Given the description of an element on the screen output the (x, y) to click on. 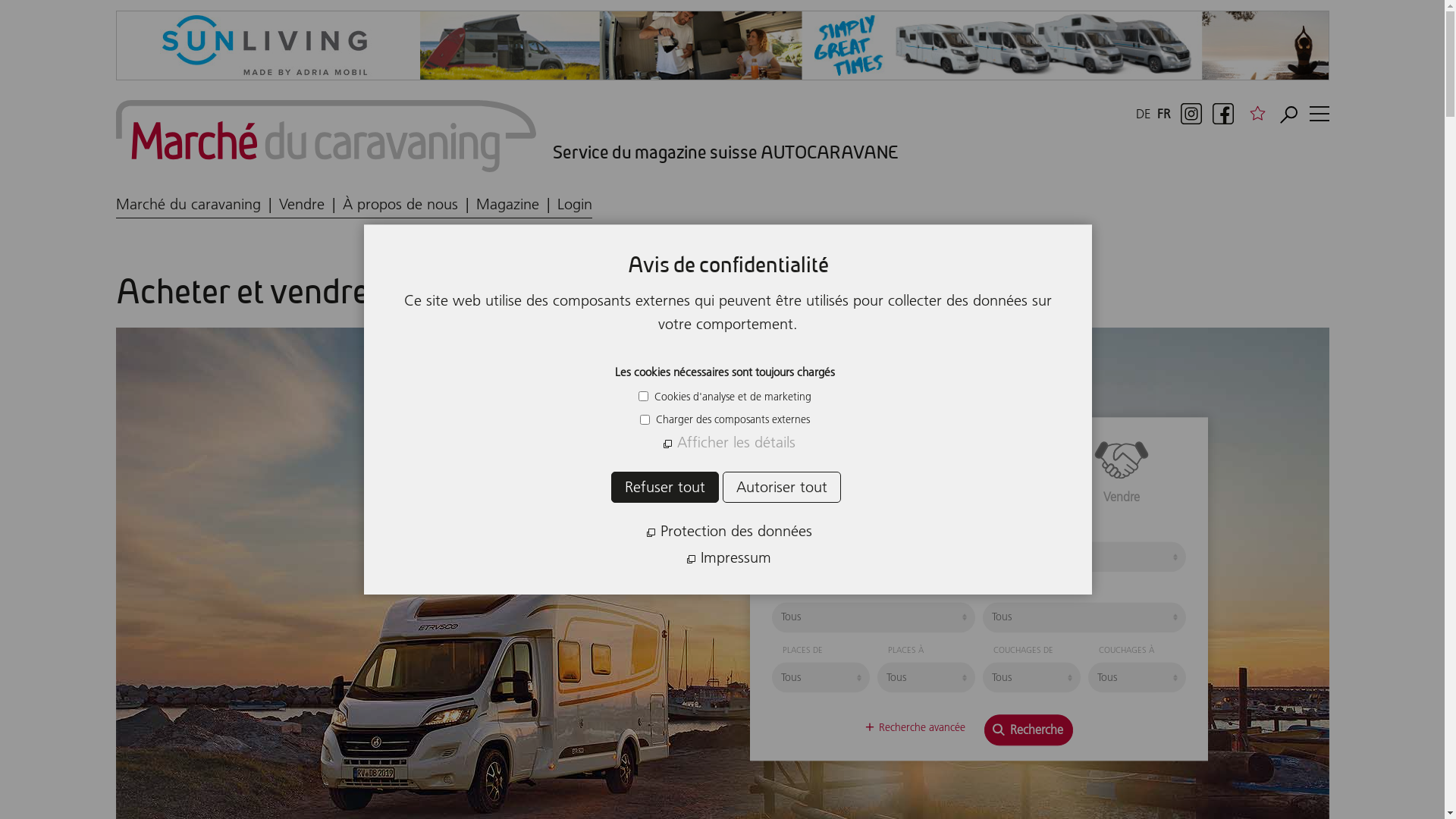
Recherche Element type: text (1028, 729)
DE Element type: text (1144, 113)
Vendre Element type: text (310, 204)
Login Element type: text (573, 204)
Autoriser tout Element type: text (781, 486)
Refuser tout Element type: text (664, 486)
Impressum Element type: text (727, 557)
Vendre Element type: text (1121, 472)
Magazine Element type: text (516, 204)
FR Element type: text (1162, 113)
